Given the description of an element on the screen output the (x, y) to click on. 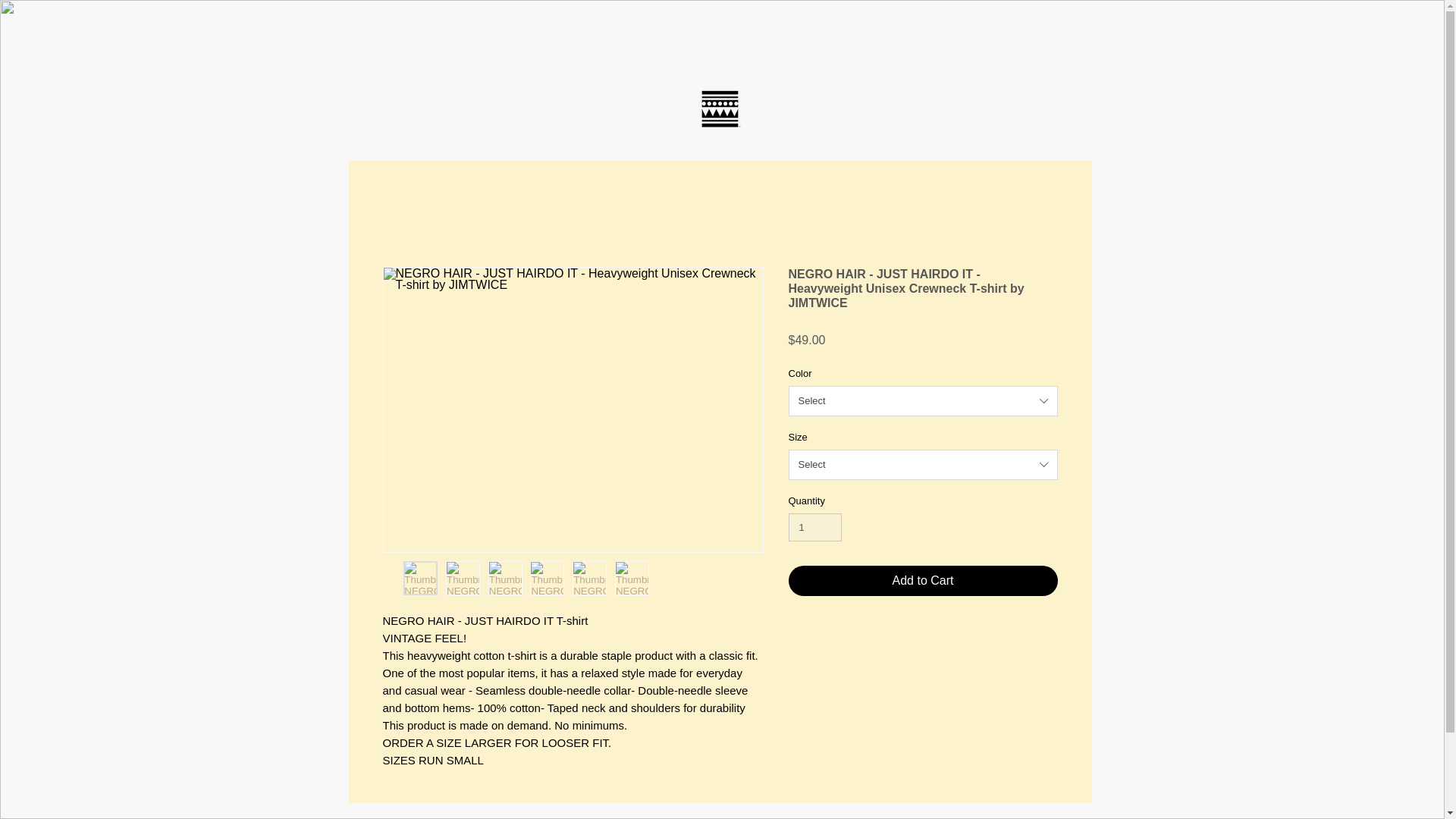
Add to Cart (923, 580)
1 (816, 527)
Select (923, 464)
Select (923, 400)
